Given the description of an element on the screen output the (x, y) to click on. 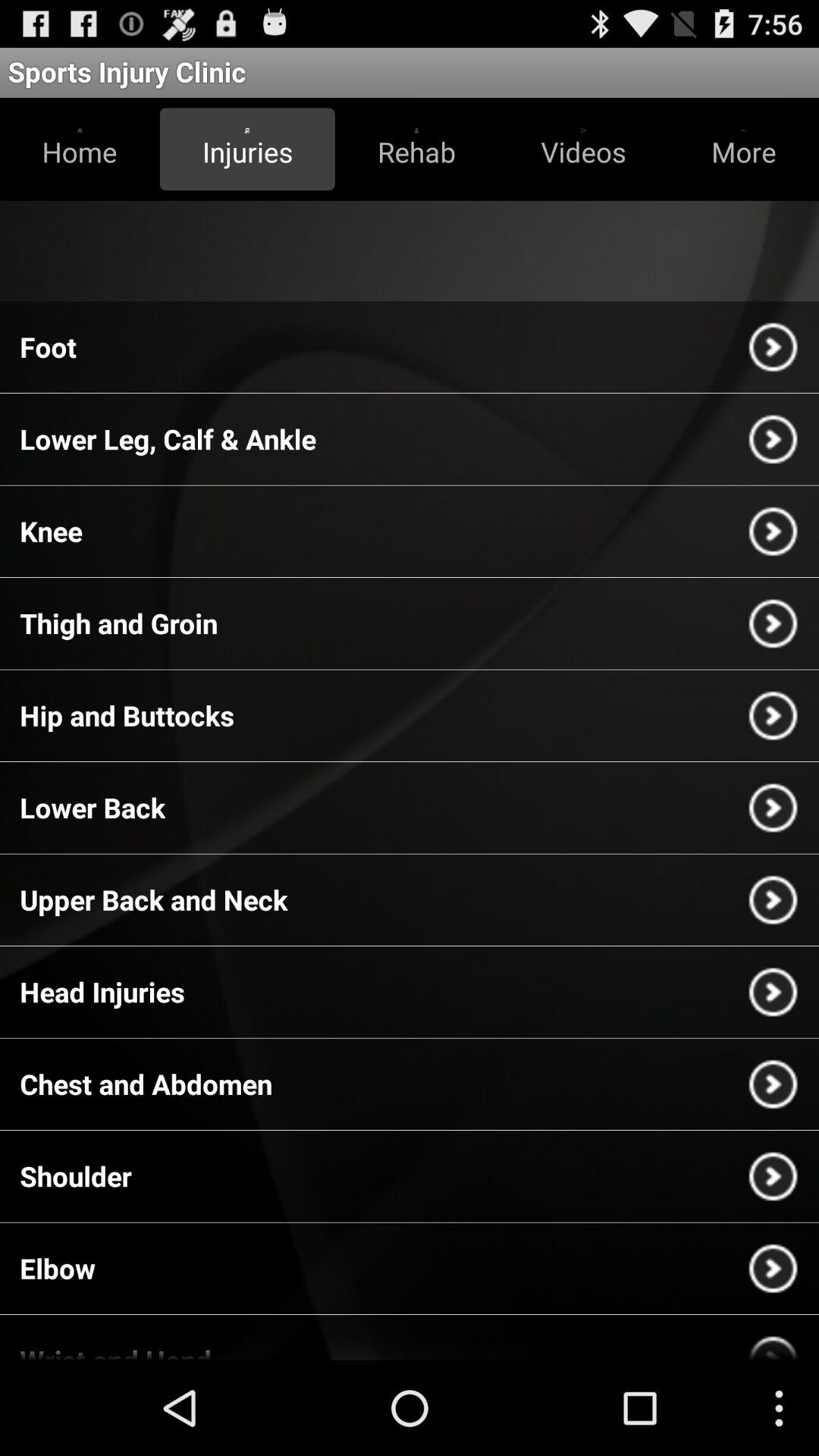
choose the item below shoulder (57, 1268)
